Given the description of an element on the screen output the (x, y) to click on. 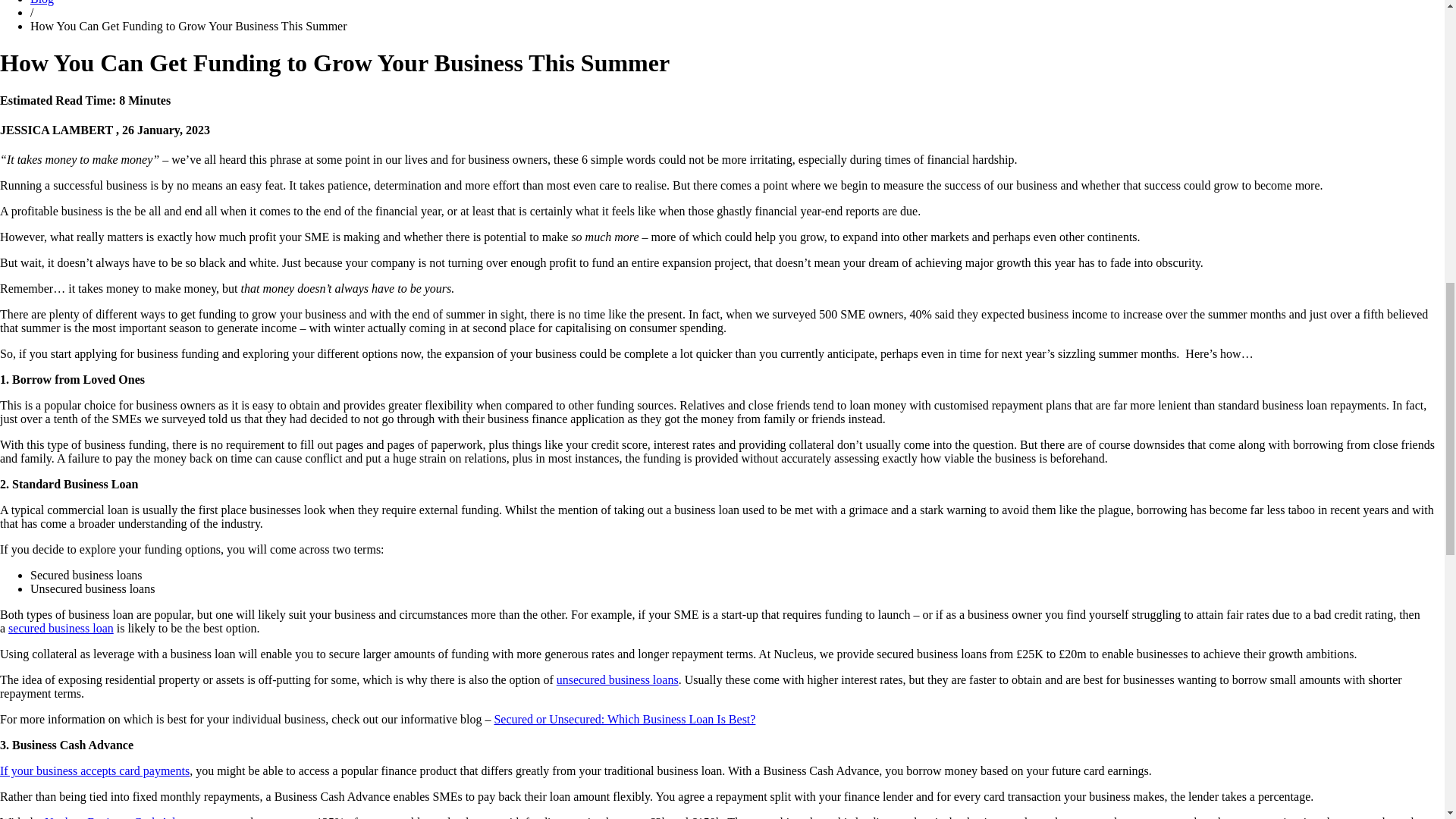
If your business accepts card payments (94, 770)
Blog (41, 2)
Nucleus Business Cash Advance (124, 817)
Secured or Unsecured: Which Business Loan Is Best? (624, 718)
secured business loan (60, 627)
unsecured business loans (617, 679)
